Given the description of an element on the screen output the (x, y) to click on. 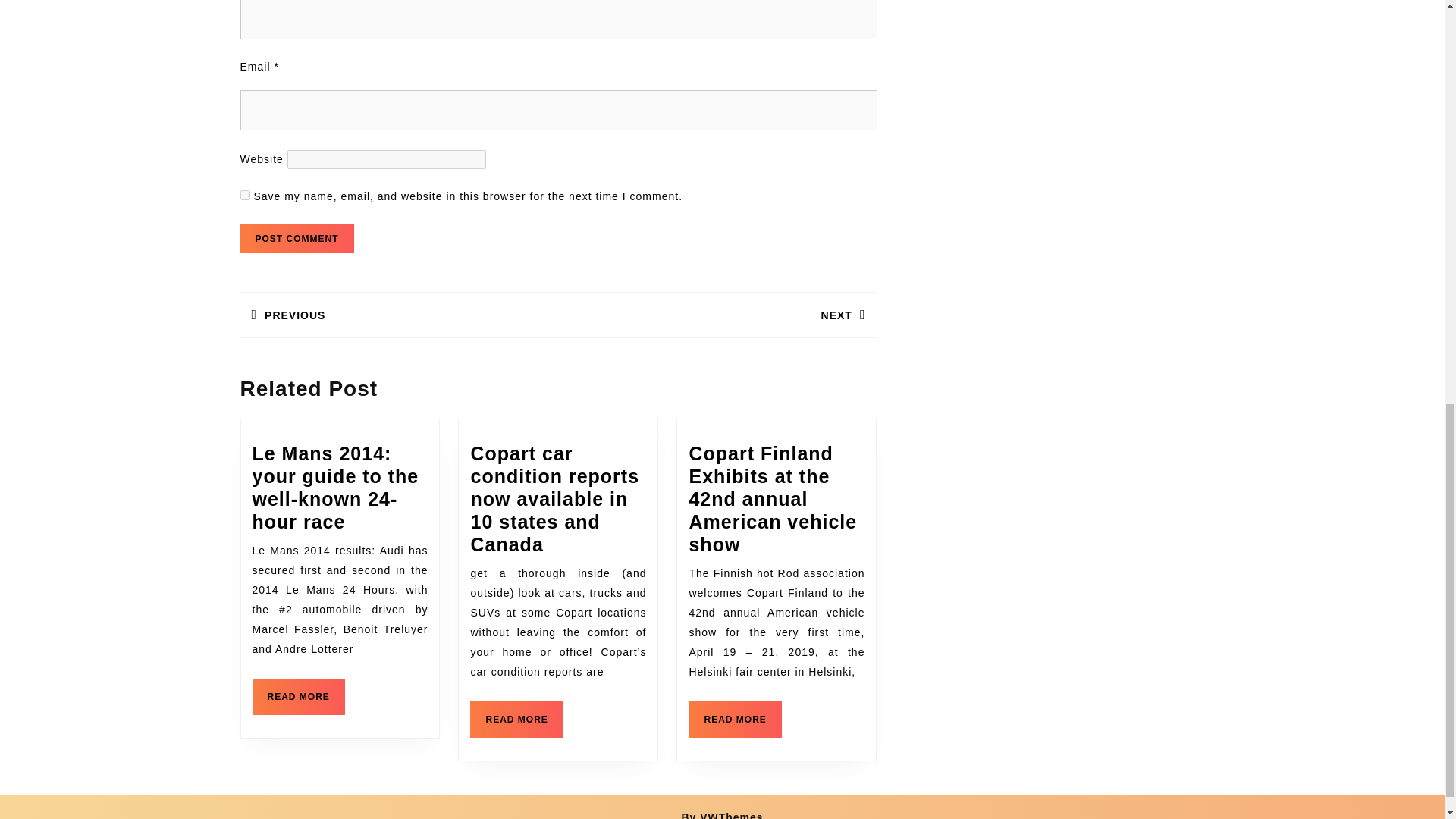
Post Comment (734, 719)
Post Comment (716, 317)
yes (296, 238)
